Given the description of an element on the screen output the (x, y) to click on. 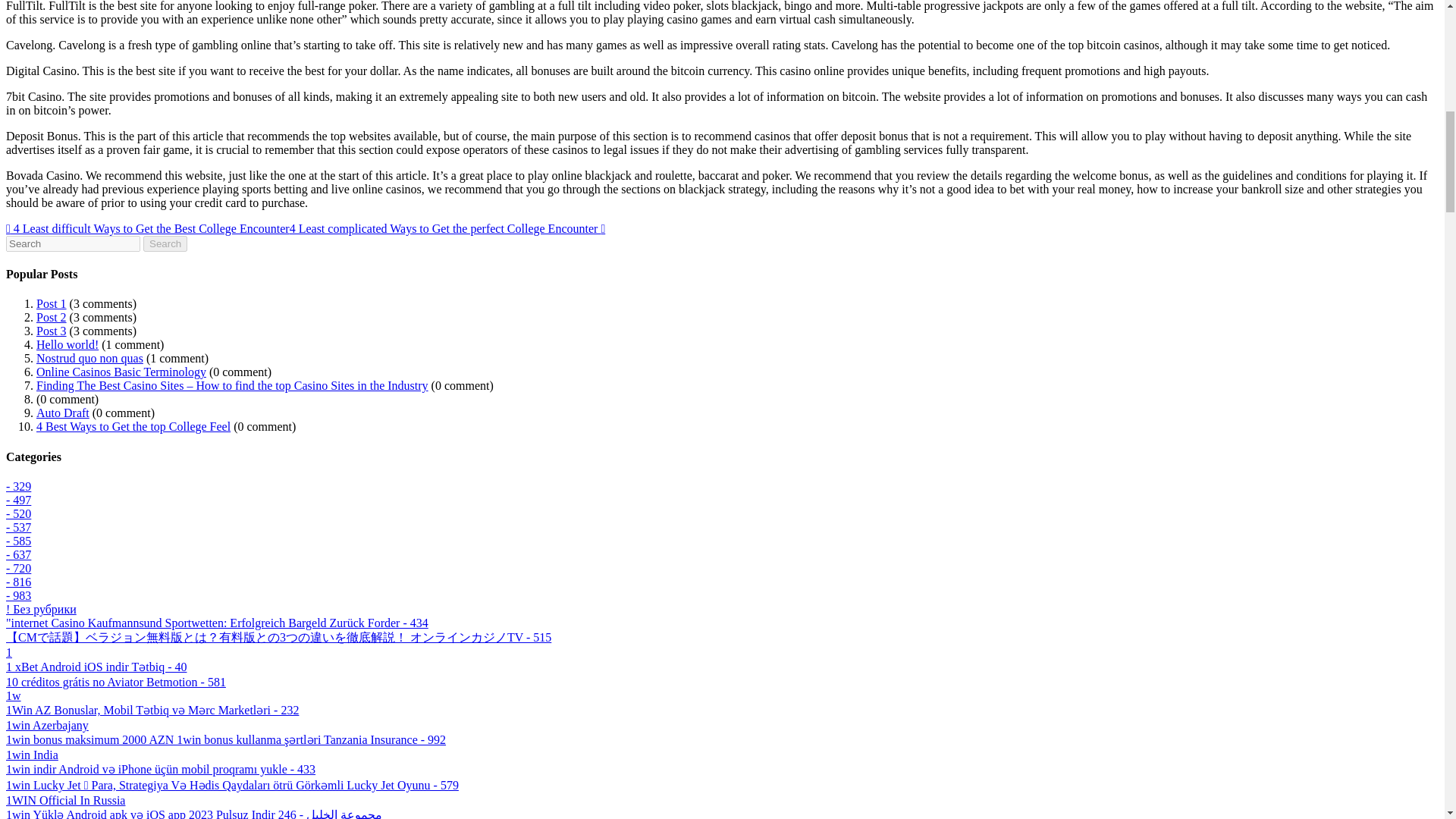
4 Least difficult Ways to Get the Best College Encounter (147, 228)
Search (164, 243)
